Given the description of an element on the screen output the (x, y) to click on. 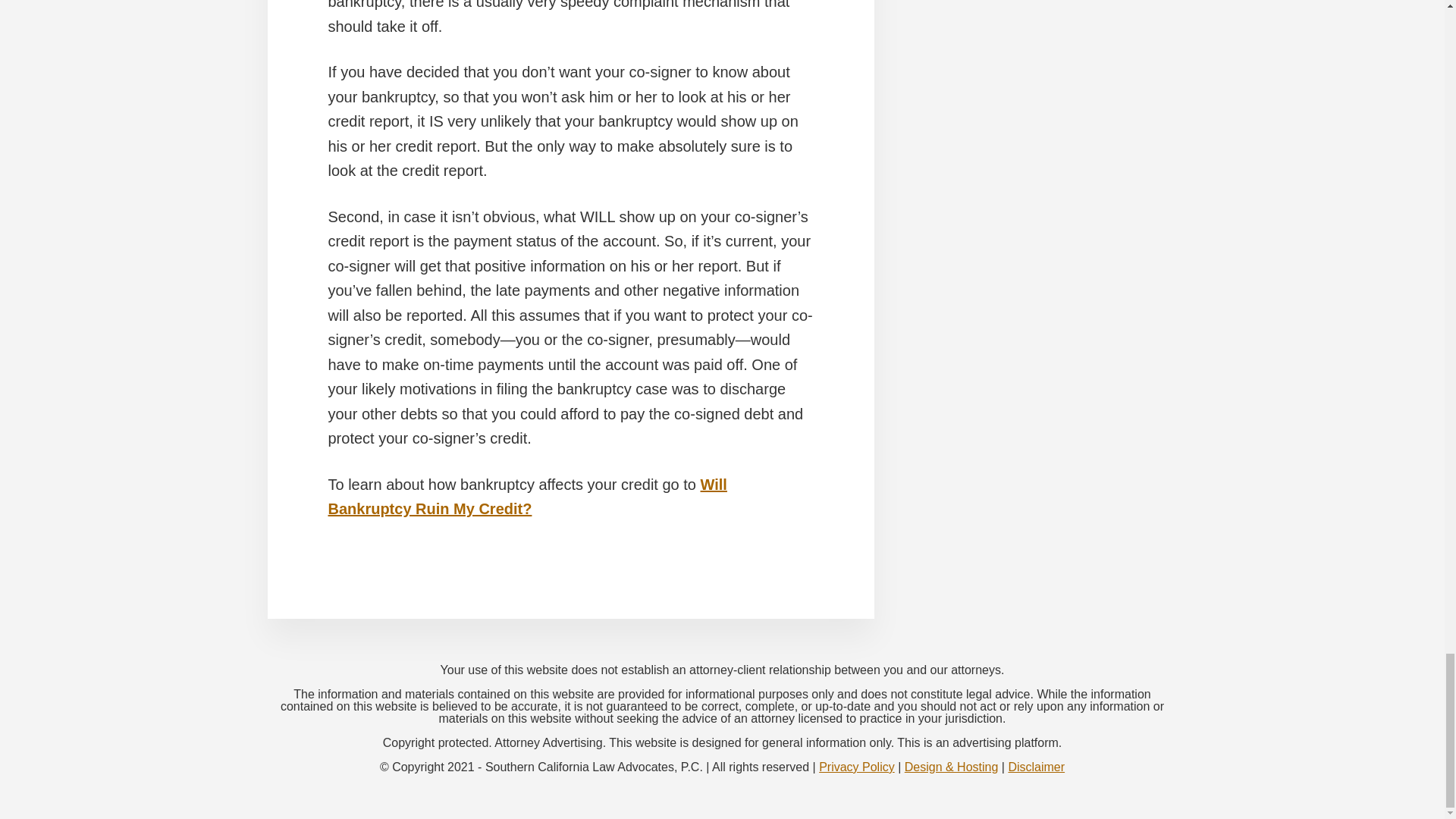
Will Bankruptcy Ruin My Credit? (526, 496)
